Given the description of an element on the screen output the (x, y) to click on. 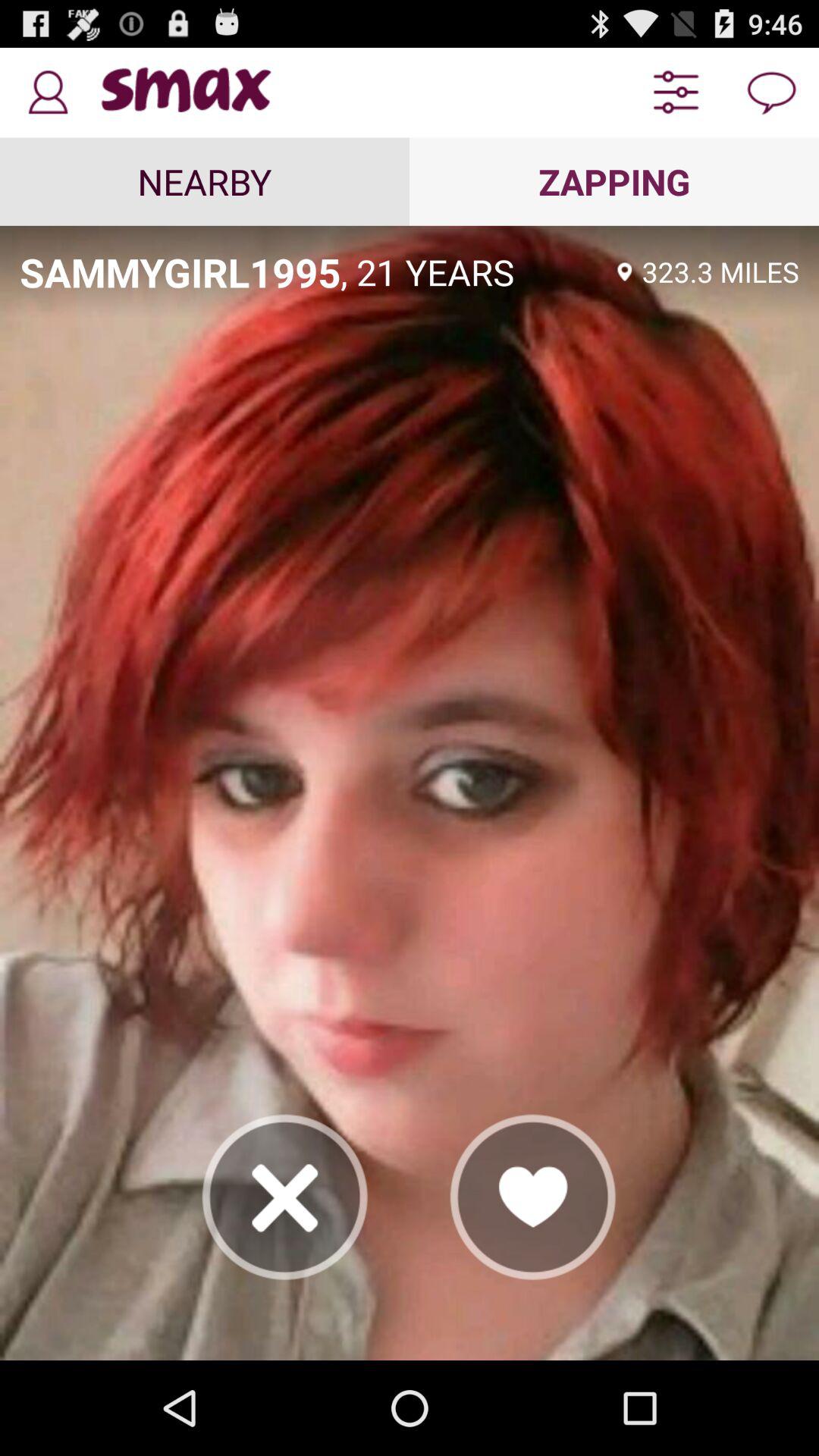
turn on item below the nearby item (179, 271)
